Given the description of an element on the screen output the (x, y) to click on. 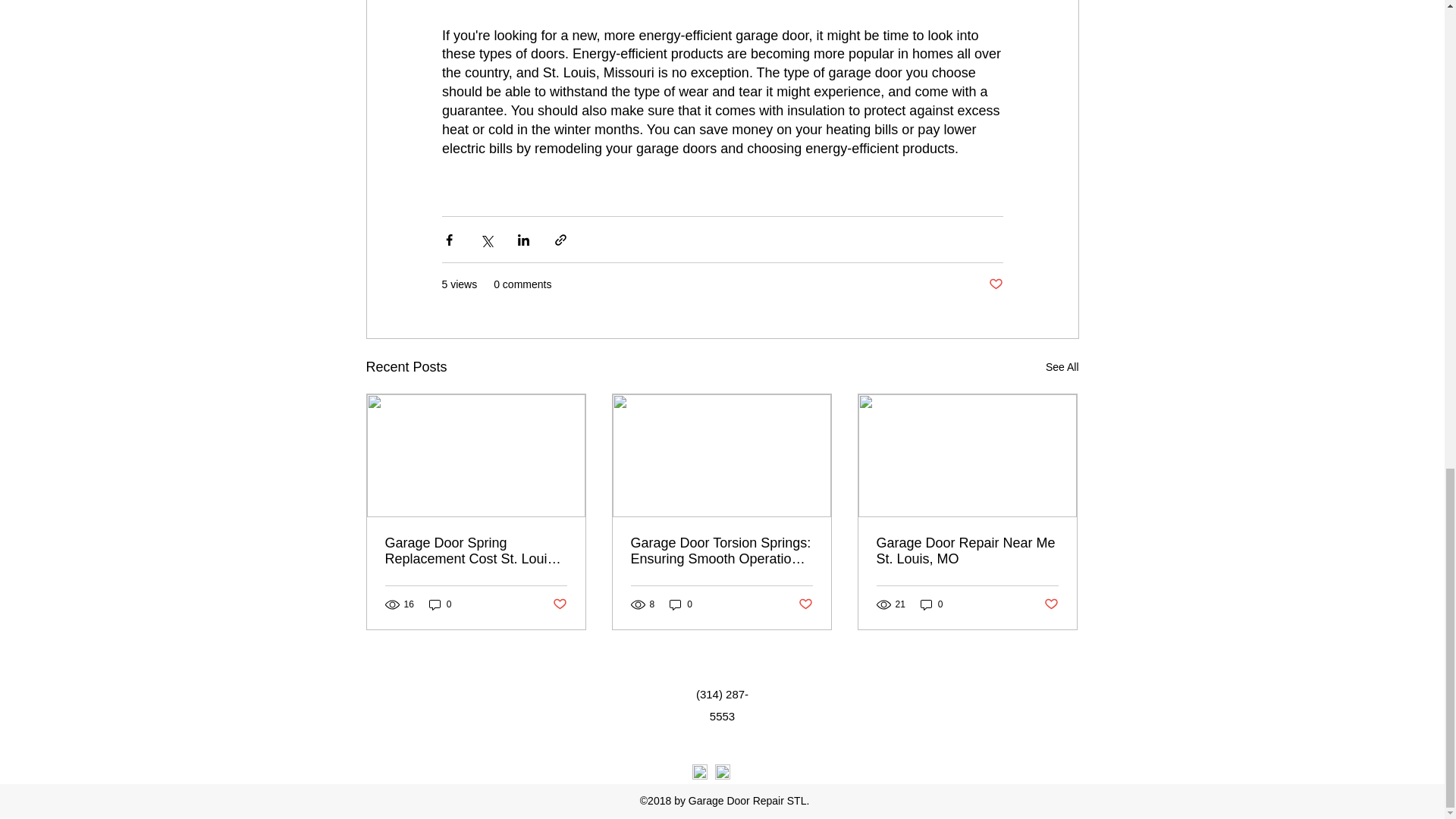
Garage Door Spring Replacement Cost St. Louis, MO (476, 551)
Post not marked as liked (558, 604)
0 (440, 604)
Garage Door Repair Near Me St. Louis, MO (967, 551)
See All (1061, 367)
0 (931, 604)
Post not marked as liked (804, 604)
Post not marked as liked (1050, 604)
0 (681, 604)
